Given the description of an element on the screen output the (x, y) to click on. 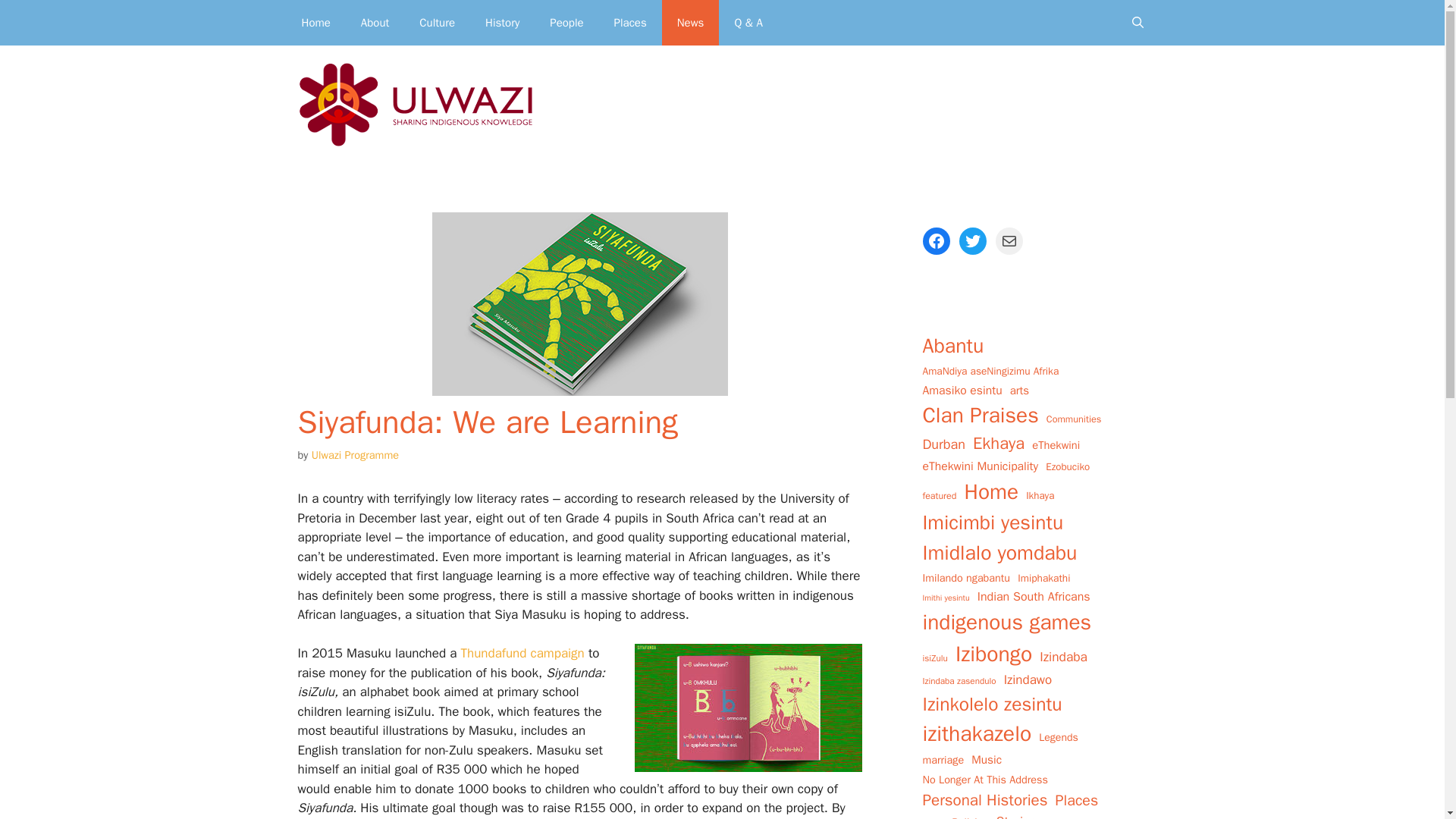
Abantu (952, 345)
eThekwini (1056, 444)
View all posts by Ulwazi Programme (354, 454)
Home (316, 22)
Ulwazi Programme (354, 454)
People (566, 22)
Thundafund campaign (521, 652)
Places (630, 22)
Home (990, 491)
History (502, 22)
